Given the description of an element on the screen output the (x, y) to click on. 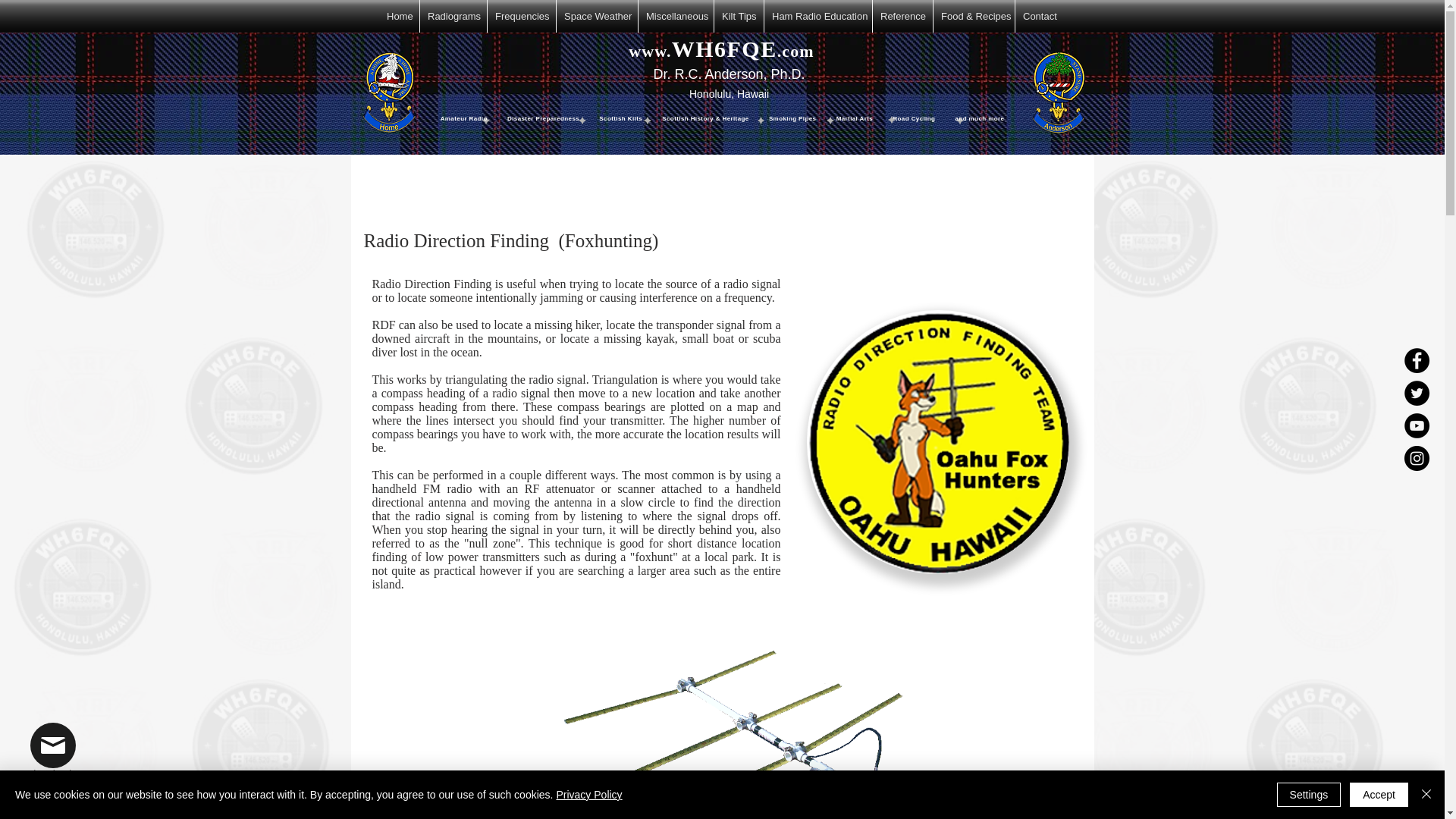
Home (398, 16)
Live chat offline (52, 745)
Live chat offline (56, 778)
